Given the description of an element on the screen output the (x, y) to click on. 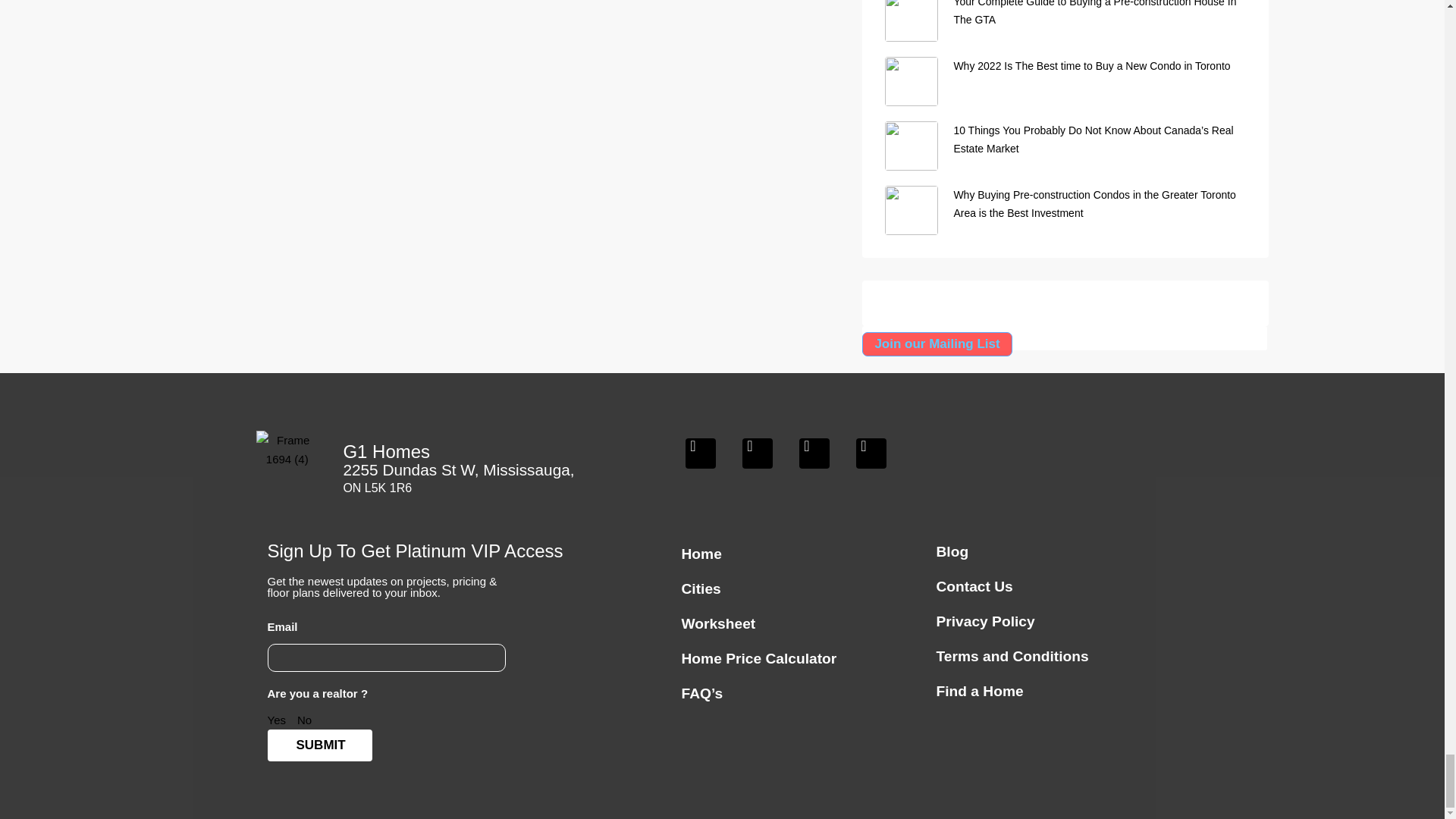
Submit (318, 745)
